Given the description of an element on the screen output the (x, y) to click on. 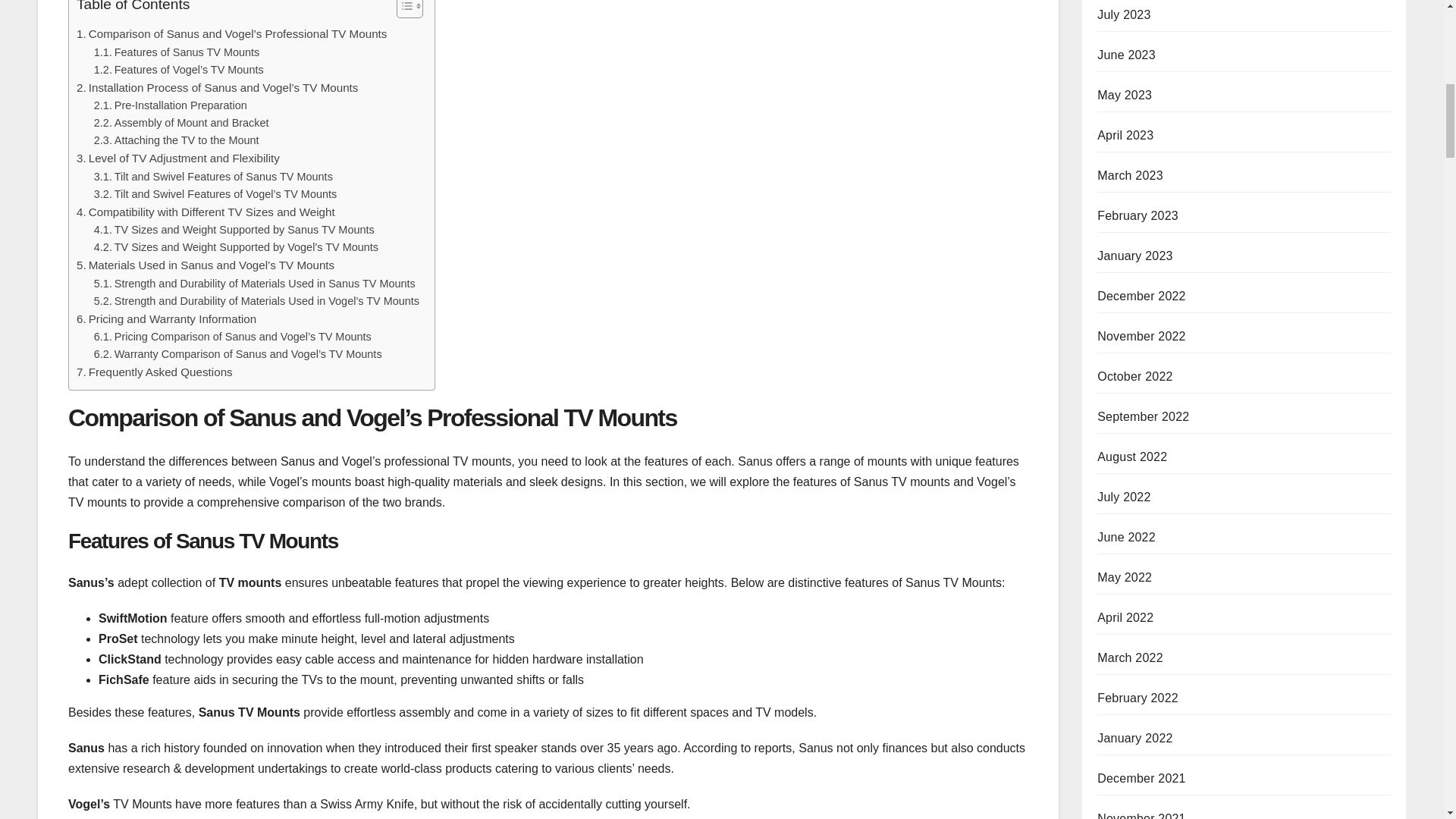
Assembly of Mount and Bracket (181, 122)
Tilt and Swivel Features of Sanus TV Mounts (213, 176)
Features of Sanus TV Mounts (177, 52)
Tilt and Swivel Features of Sanus TV Mounts (213, 176)
TV Sizes and Weight Supported by Sanus TV Mounts (234, 230)
Pricing and Warranty Information (166, 319)
Attaching the TV to the Mount (176, 140)
Attaching the TV to the Mount (176, 140)
Strength and Durability of Materials Used in Sanus TV Mounts (254, 283)
Level of TV Adjustment and Flexibility (178, 158)
